Given the description of an element on the screen output the (x, y) to click on. 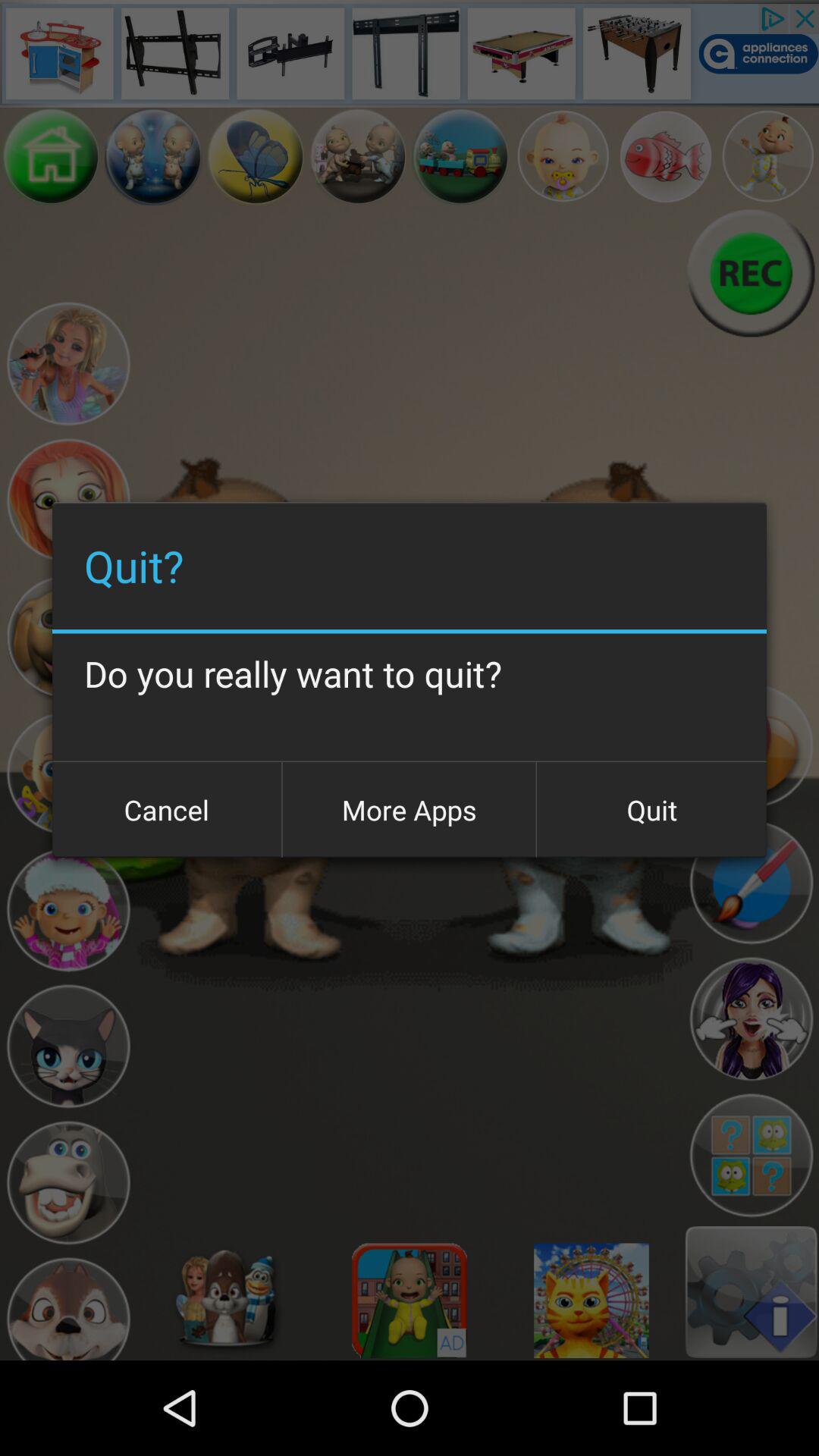
home button (51, 156)
